Given the description of an element on the screen output the (x, y) to click on. 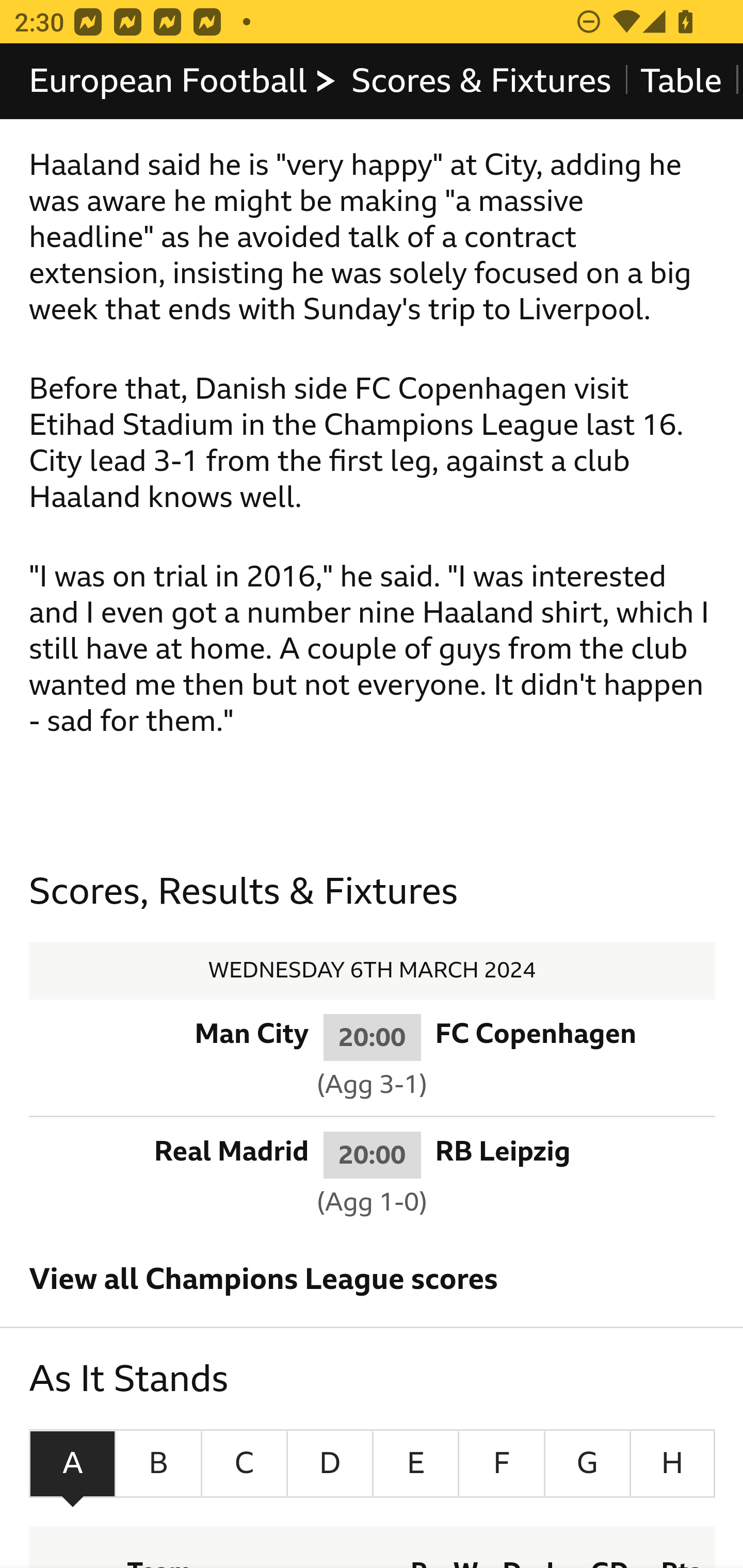
A (71, 1464)
B (158, 1464)
C (244, 1464)
D (329, 1464)
E (415, 1464)
F (501, 1464)
G (587, 1464)
H (672, 1464)
